Given the description of an element on the screen output the (x, y) to click on. 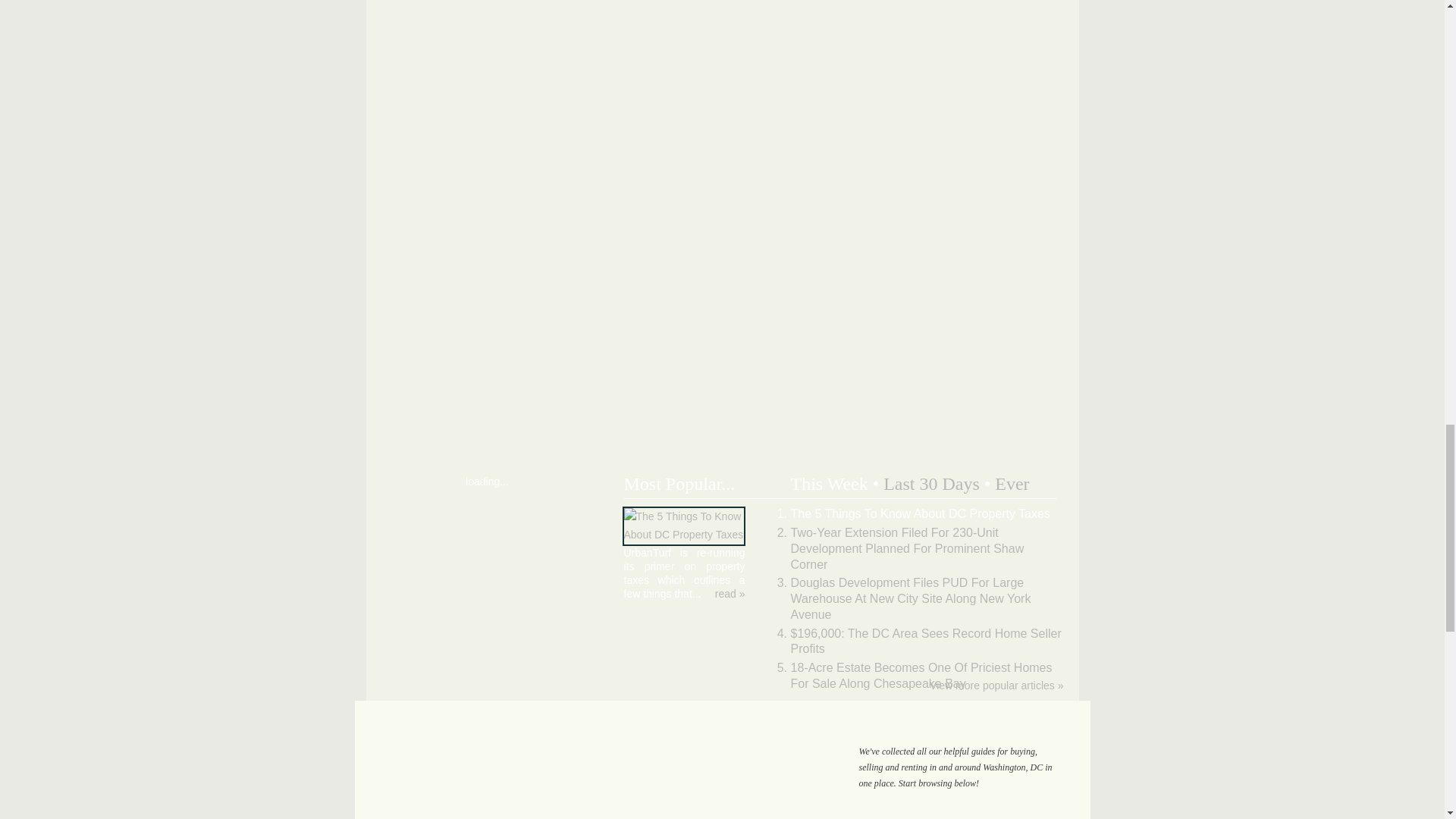
This Week (828, 483)
The 5 Things To Know About DC Property Taxes (683, 534)
Read the article (729, 593)
Ever (1011, 483)
Last 30 Days (931, 483)
